Given the description of an element on the screen output the (x, y) to click on. 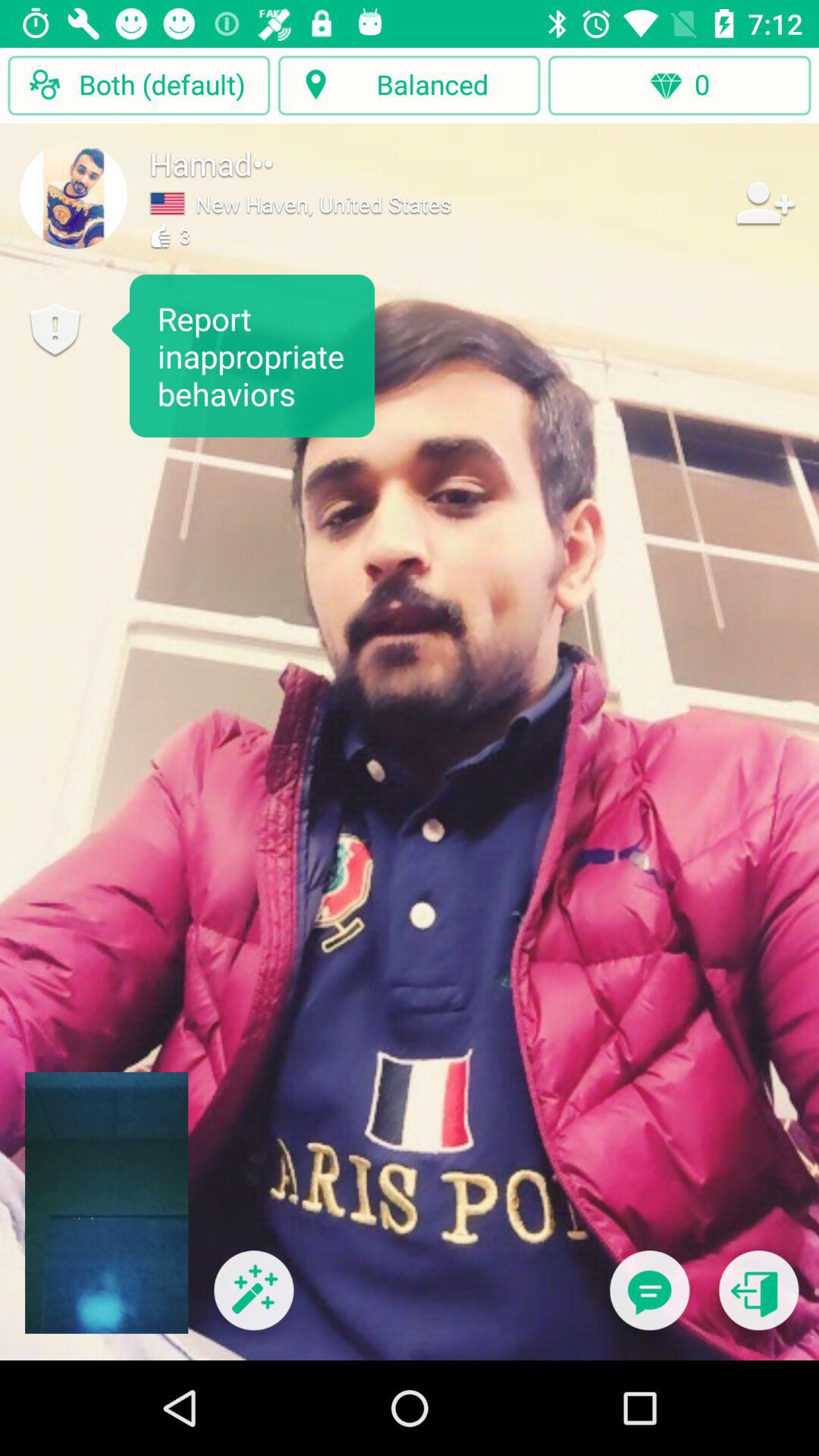
photo touch-up (253, 1300)
